Given the description of an element on the screen output the (x, y) to click on. 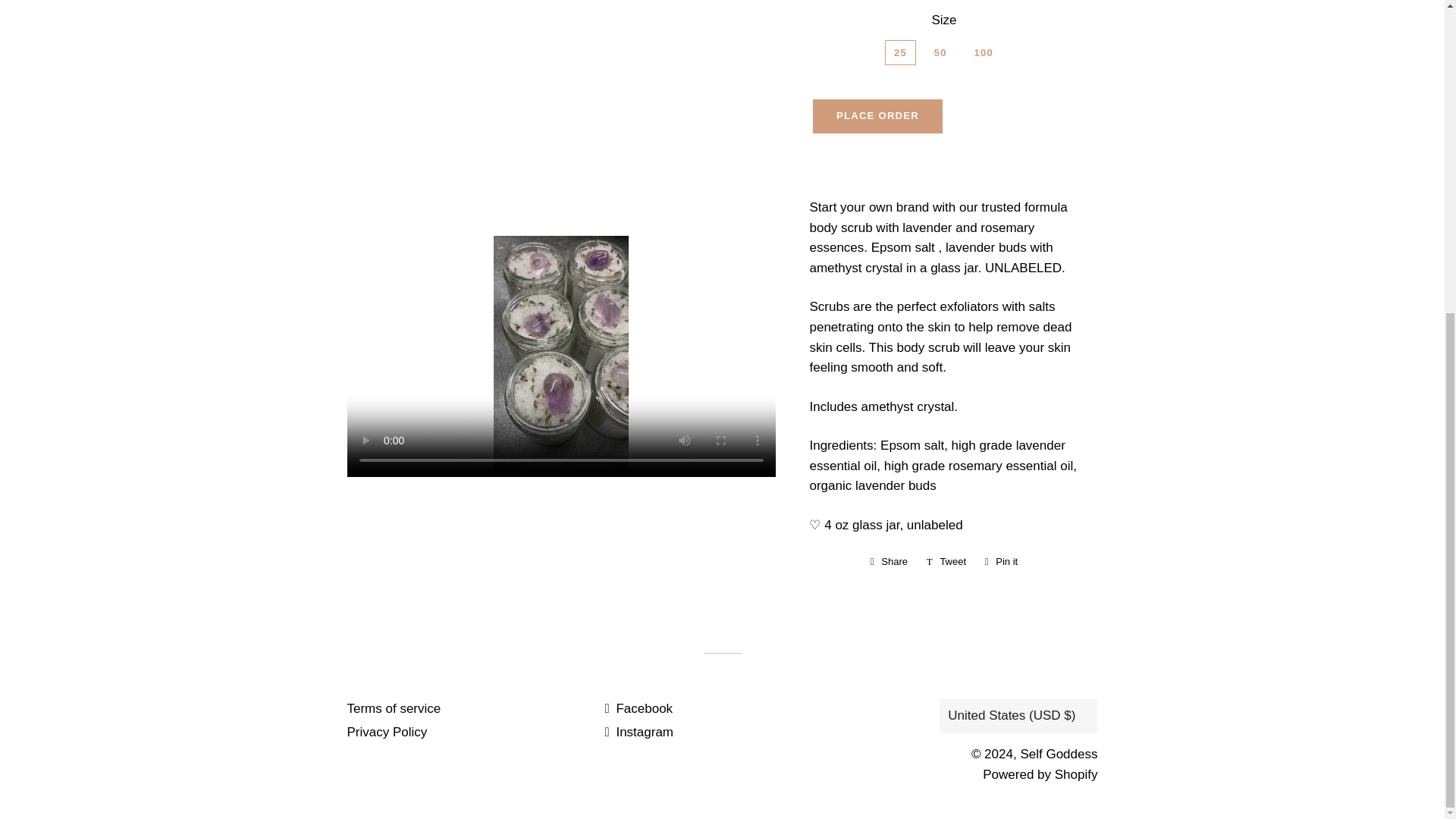
Share on Facebook (889, 561)
Self Goddess on Facebook (638, 708)
PLACE ORDER (877, 115)
100 (946, 561)
Facebook (889, 561)
Instagram (1000, 561)
